Given the description of an element on the screen output the (x, y) to click on. 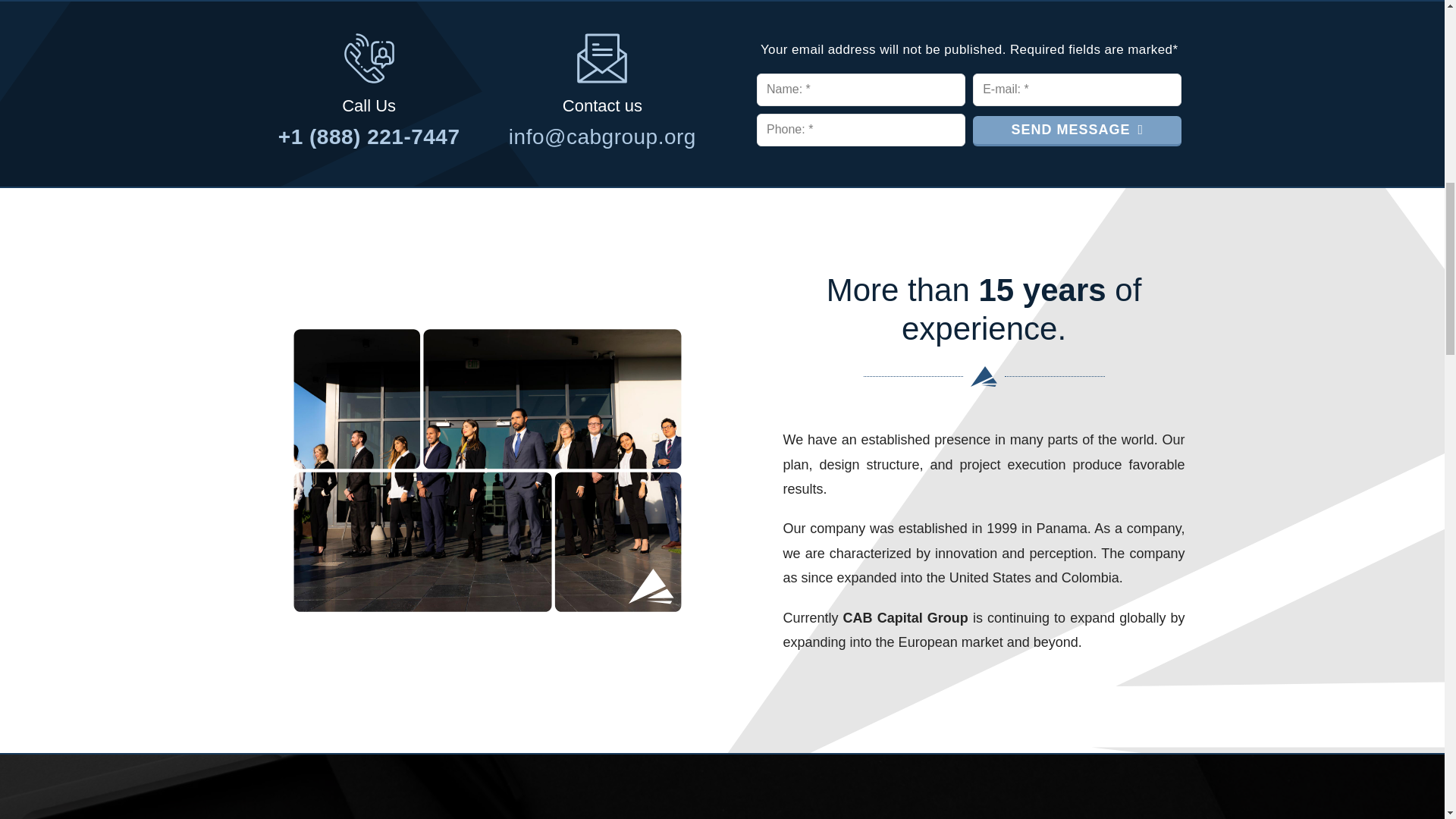
SEND MESSAGE (1076, 131)
